Given the description of an element on the screen output the (x, y) to click on. 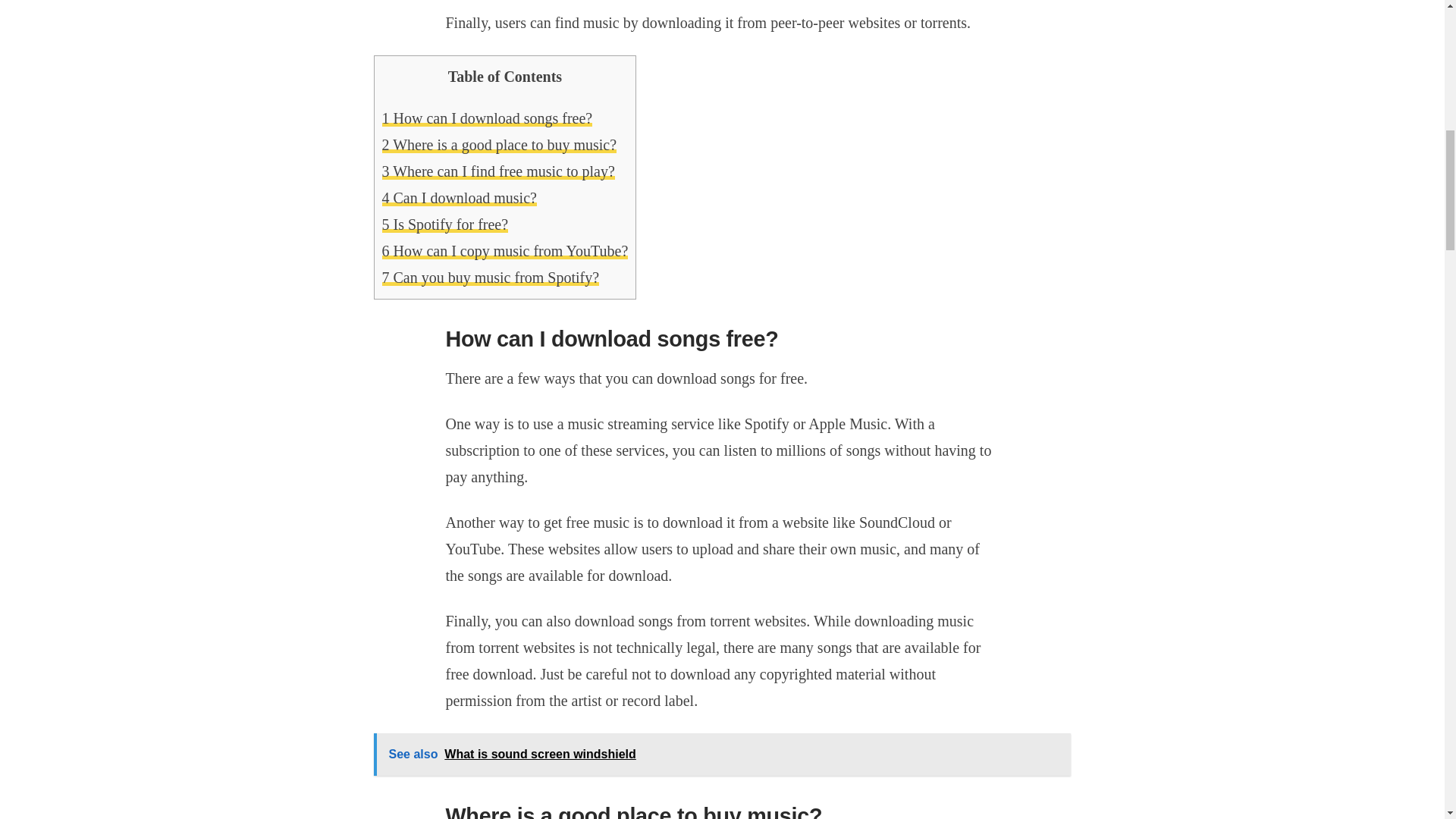
4 Can I download music? (459, 197)
2 Where is a good place to buy music? (499, 144)
6 How can I copy music from YouTube? (504, 250)
1 How can I download songs free? (486, 117)
3 Where can I find free music to play? (497, 170)
See also  What is sound screen windshield (721, 754)
5 Is Spotify for free? (444, 223)
7 Can you buy music from Spotify? (490, 276)
